Given the description of an element on the screen output the (x, y) to click on. 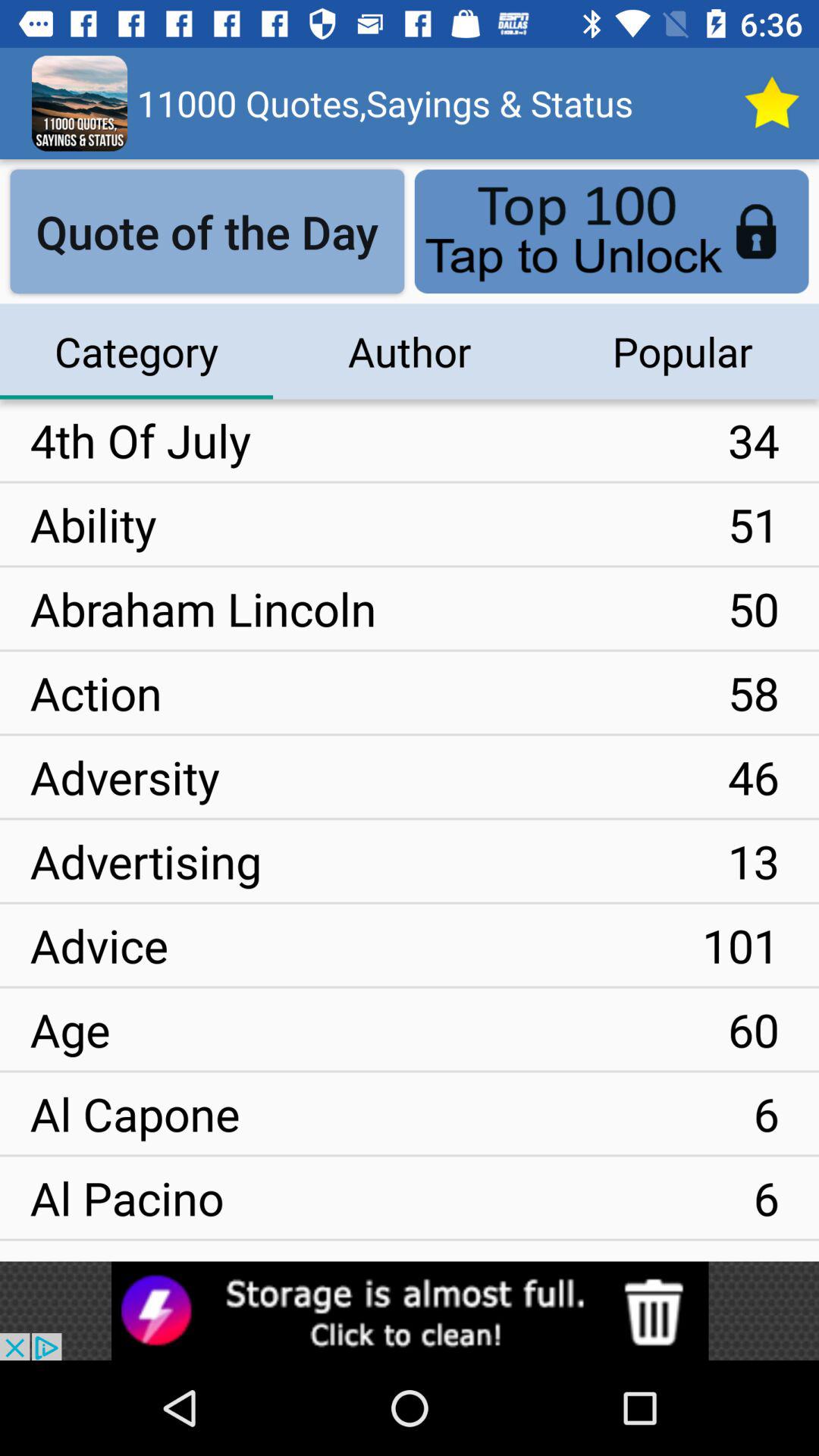
select the button which is next to the quote of the day (611, 232)
